Given the description of an element on the screen output the (x, y) to click on. 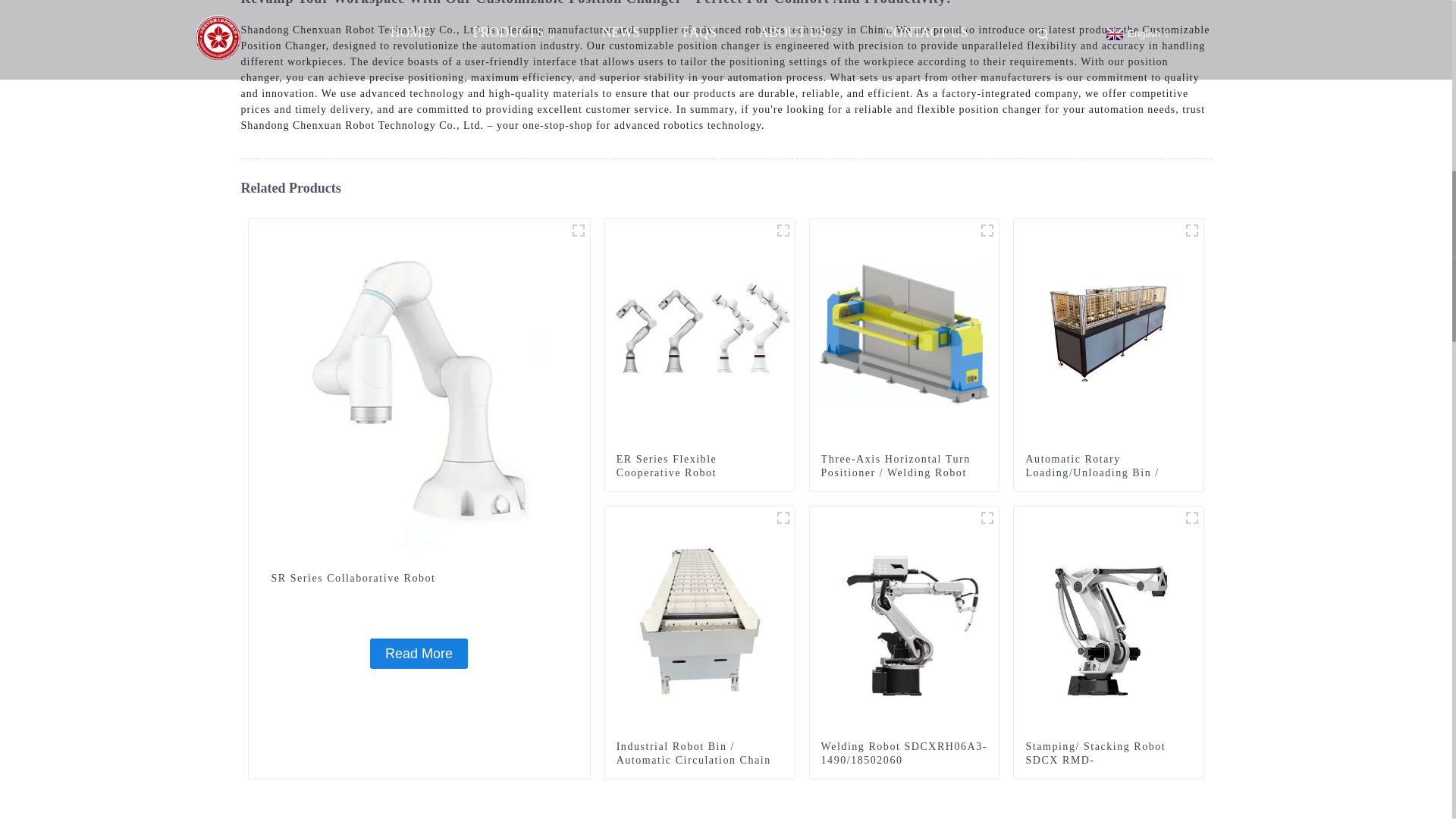
ER Series Flexible Cooperative Robot (699, 465)
SR Series Collaborative Robot (418, 387)
ER Series Flexible Cooperative Robot (699, 332)
11 (1192, 230)
SR Series Collaborative Robot (418, 578)
SR Series Collaborative Robot (418, 578)
22 (782, 517)
ER Series Flexible Cooperative Robot (699, 465)
SR Series Collaborative Robot (418, 653)
Read More (418, 653)
